Given the description of an element on the screen output the (x, y) to click on. 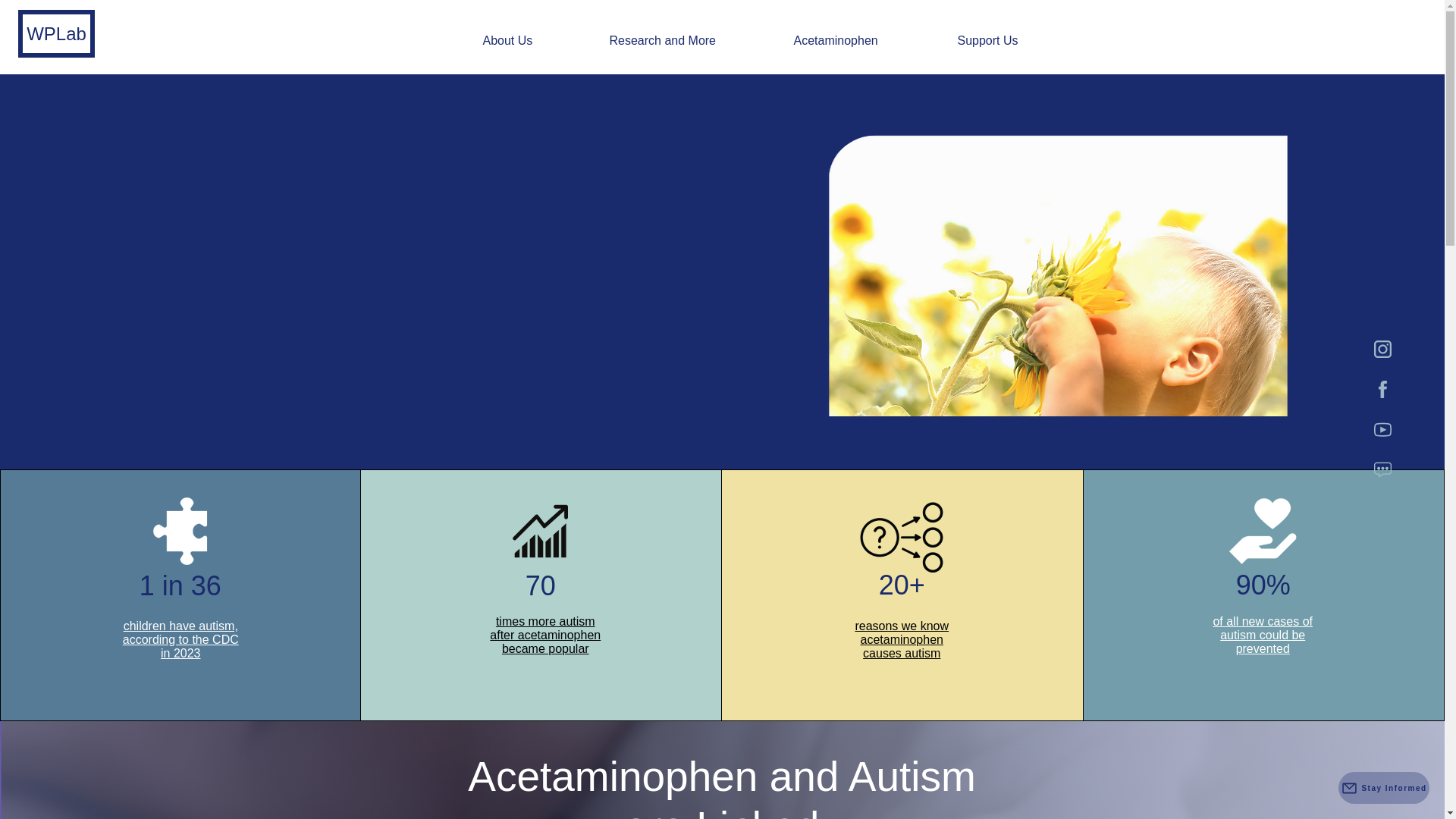
children have autism, according to the CDC in 2023 (180, 639)
reasons we know acetaminophen causes autism (901, 639)
About Us (534, 40)
times more autism after acetaminophen became popular (544, 635)
of all new cases of autism could be prevented (1262, 635)
WPLab (55, 33)
Acetaminophen (864, 40)
Research and More (688, 40)
Support Us (1015, 40)
